Given the description of an element on the screen output the (x, y) to click on. 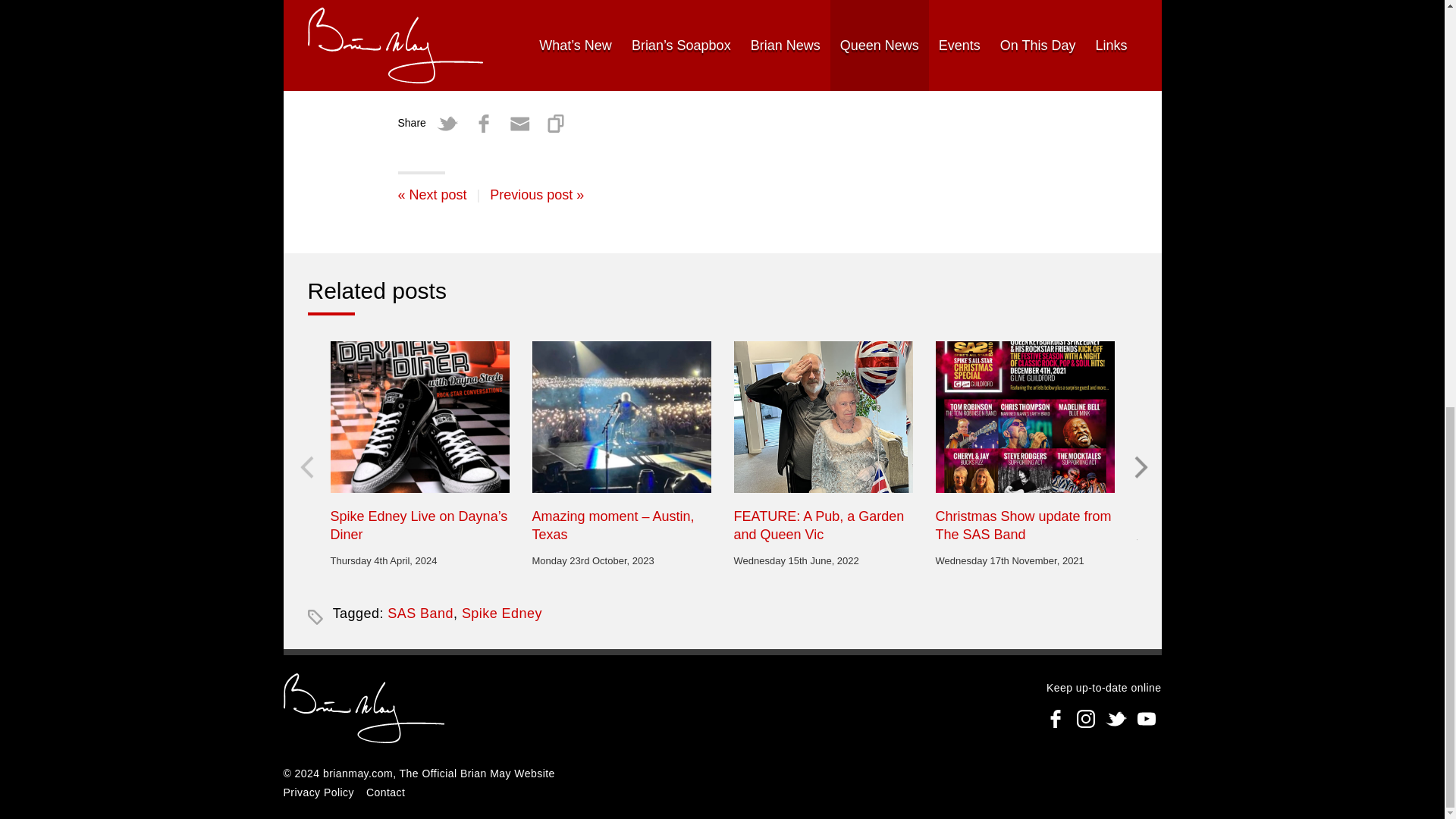
brianmay.com (364, 710)
Bohemian Rhapsody piano solo live... standing ovation (536, 194)
Follow BrianMay.com on facebook (1055, 718)
Follow BrianMay.com on Instagram (1085, 718)
Freddie Mercury Memorial Night 2015 - Vienna (431, 194)
brianmay.com (358, 773)
Follow Brian May on Twitter (1115, 718)
Follow Brian May on YouTube (1146, 718)
